Given the description of an element on the screen output the (x, y) to click on. 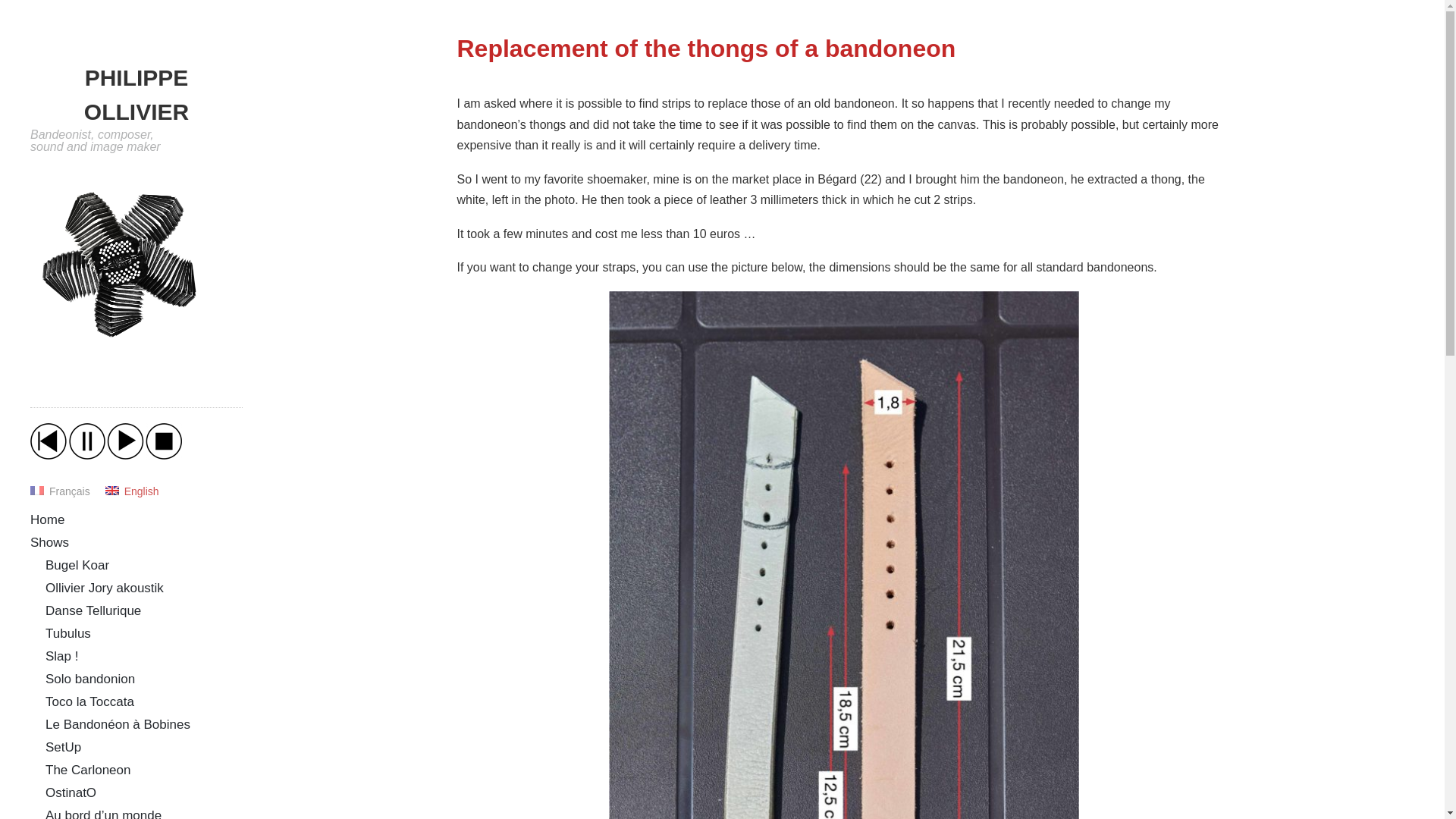
Bugel Koar (77, 564)
Home (47, 519)
English (139, 491)
PHILIPPE OLLIVIER (136, 94)
Shows (49, 542)
